Given the description of an element on the screen output the (x, y) to click on. 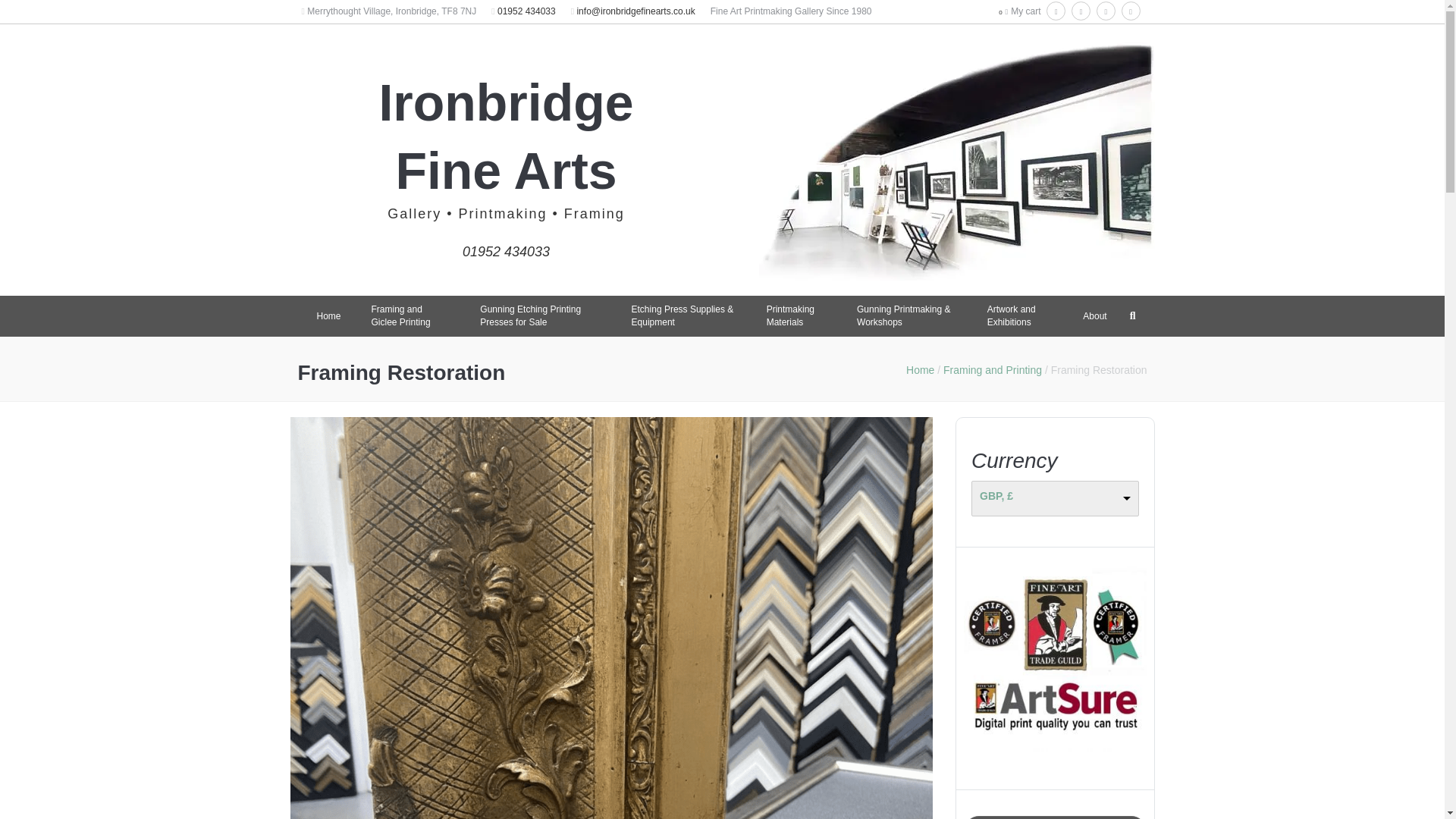
01952 434033 (526, 10)
My cart (1025, 10)
01952 434033 (506, 244)
Framing (594, 213)
Printmaking (502, 213)
Home (328, 316)
Ironbridge Fine Arts (505, 136)
View your shopping cart (1025, 10)
Framing and Giclee Printing (411, 315)
Gunning Etching Printing Presses for Sale (539, 315)
Gallery (414, 213)
